Given the description of an element on the screen output the (x, y) to click on. 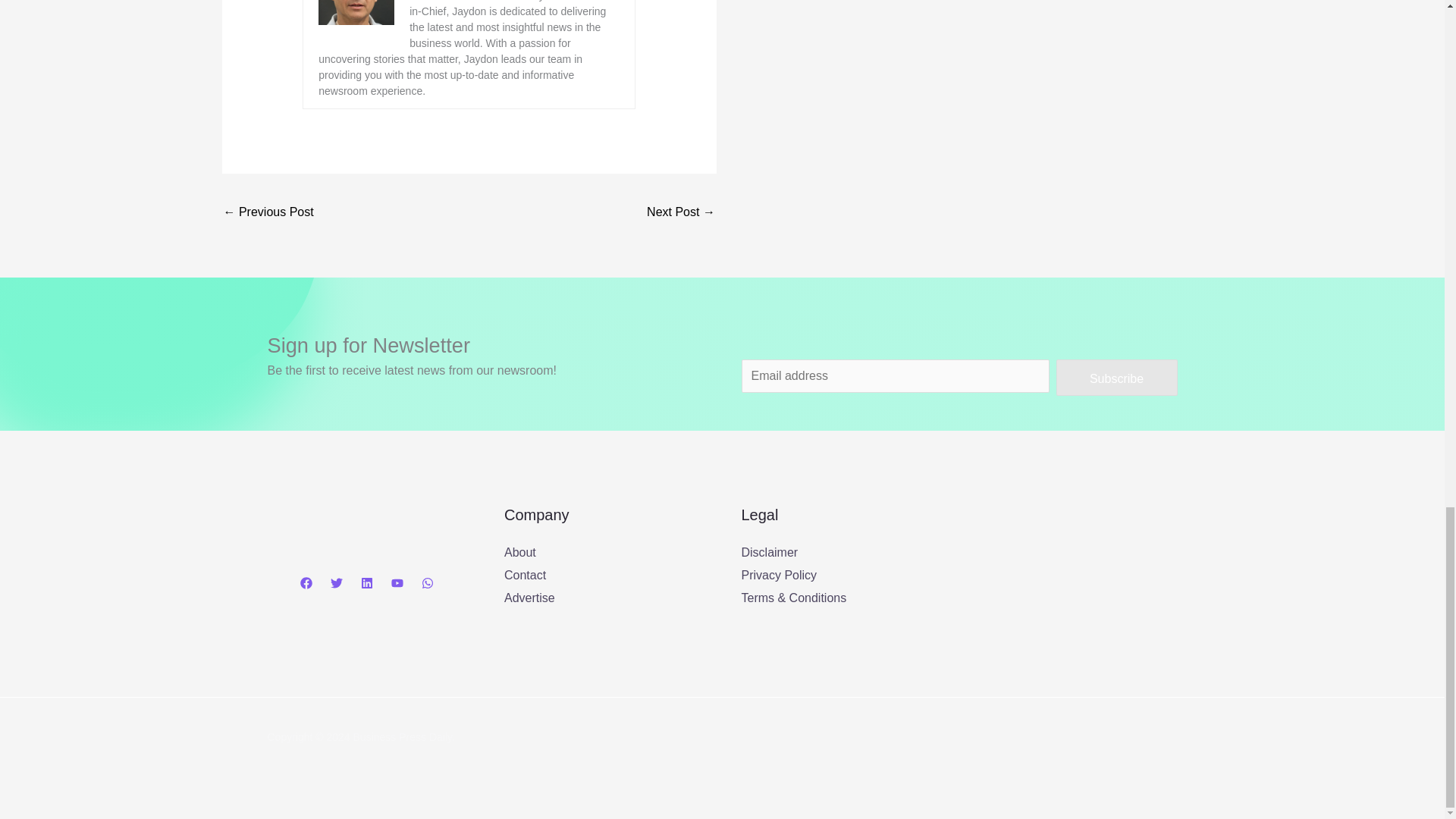
Business Press Daily (1072, 579)
About (519, 552)
Privacy Policy (778, 574)
Advertise (528, 597)
Subscribe (1115, 377)
Contact (524, 574)
Disclaimer (769, 552)
